Given the description of an element on the screen output the (x, y) to click on. 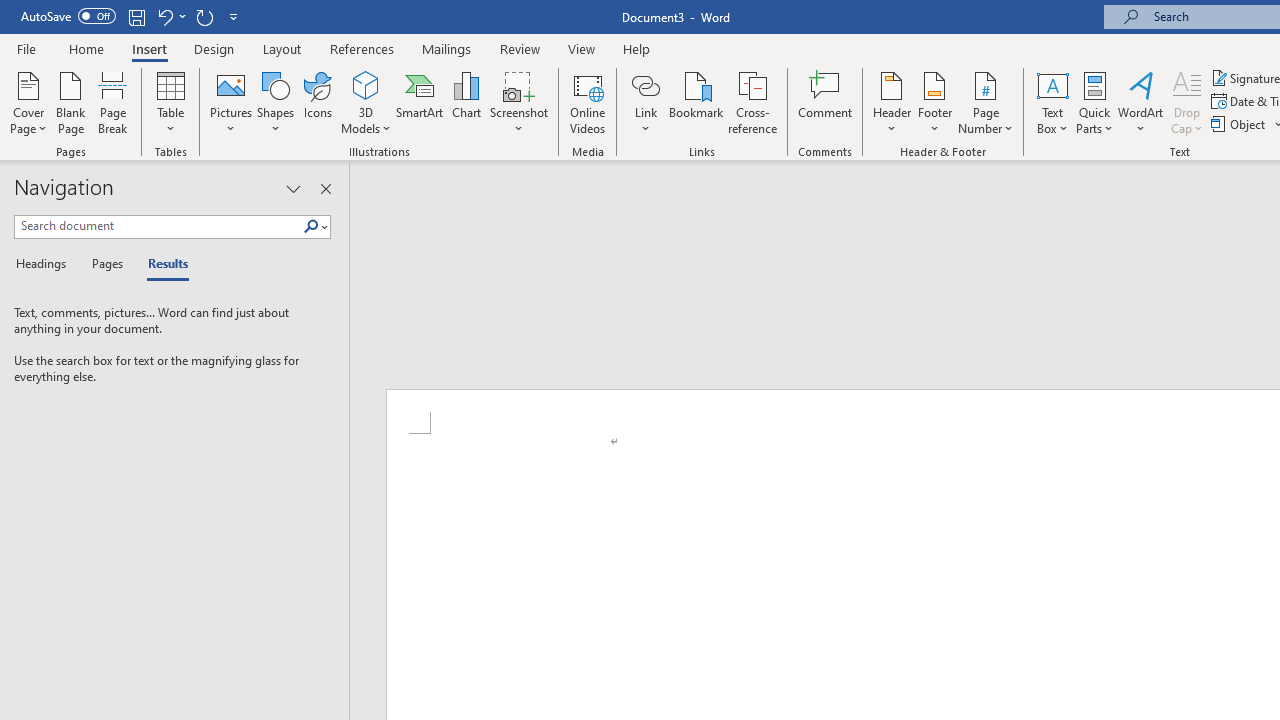
Home (86, 48)
3D Models (366, 84)
Cross-reference... (752, 102)
Link (645, 102)
File Tab (26, 48)
Drop Cap (1187, 102)
More Options (645, 121)
SmartArt... (419, 102)
Close pane (325, 188)
Quick Access Toolbar (131, 16)
Object... (1240, 124)
Layout (282, 48)
WordArt (1141, 102)
Comment (825, 102)
Class: NetUIImage (311, 226)
